Given the description of an element on the screen output the (x, y) to click on. 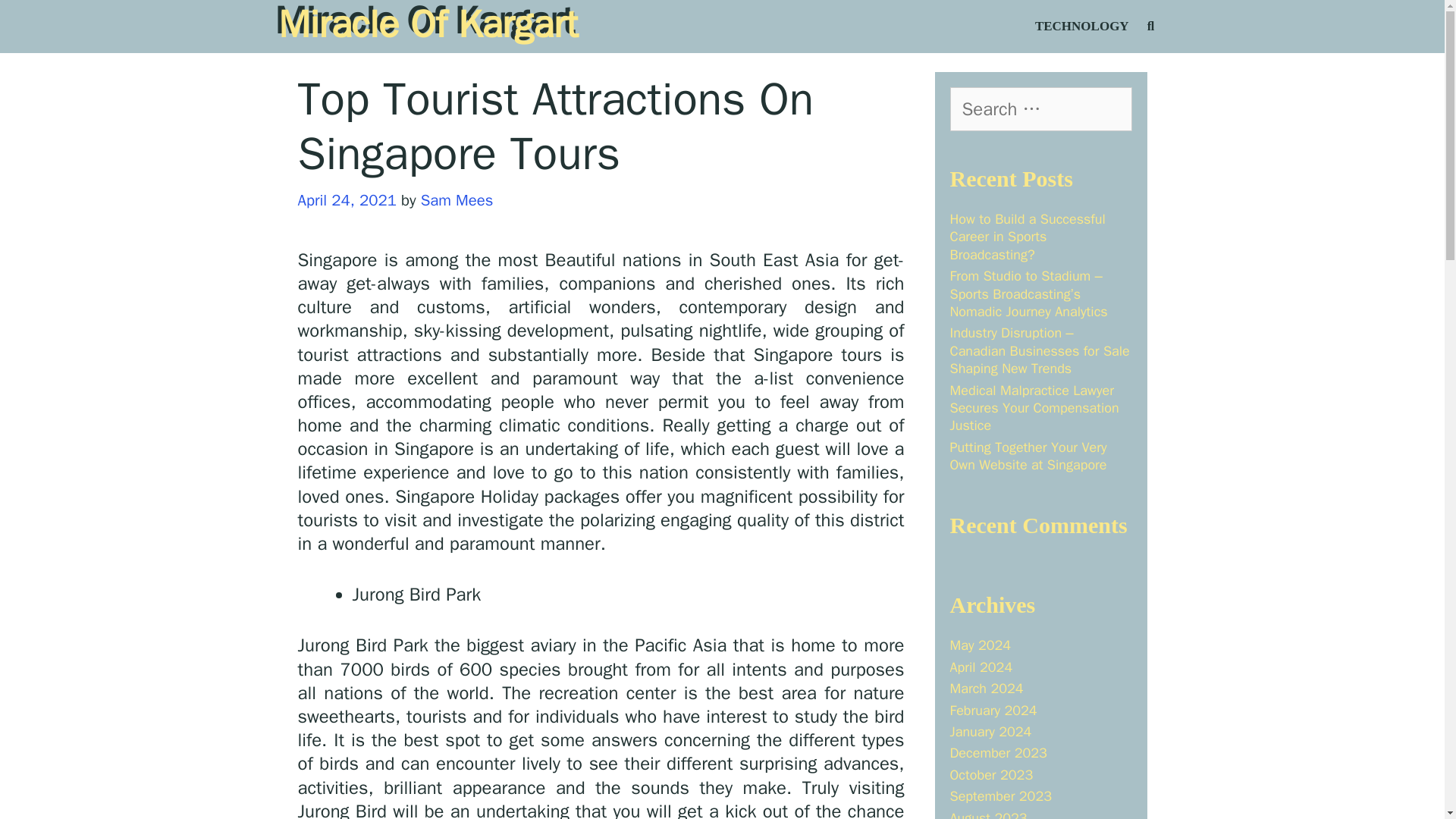
TECHNOLOGY (1081, 26)
Miracle Of Kargart (428, 24)
October 2023 (990, 774)
2:35 pm (346, 199)
January 2024 (989, 731)
August 2023 (987, 814)
View all posts by Sam Mees (456, 199)
Search (40, 20)
Sam Mees (456, 199)
April 24, 2021 (346, 199)
